Given the description of an element on the screen output the (x, y) to click on. 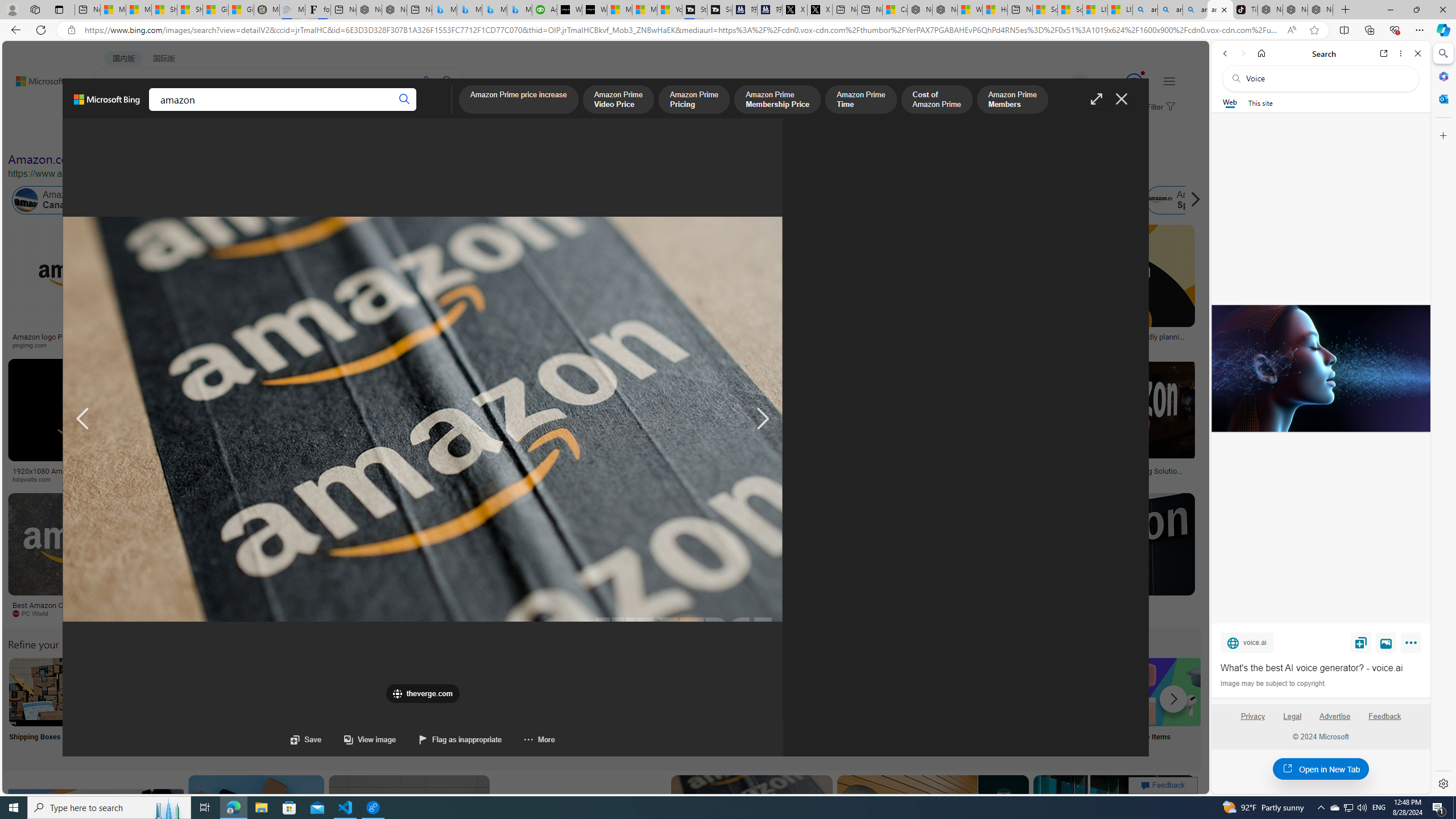
Amazon Spain (1159, 200)
Sign My Account (718, 706)
VIDEOS (260, 111)
Dallas Morning News (749, 479)
mobilemarketingmagazine.com (1054, 479)
Home (1261, 53)
Amazon Wish List Wish List (568, 706)
Advertise (1335, 715)
Amazon Canada Online (65, 199)
Long Island Press (593, 479)
Amazon Labor Law Violation in California (642, 199)
Amazon Log into My Account (268, 691)
Flag as inappropriate (460, 739)
